Given the description of an element on the screen output the (x, y) to click on. 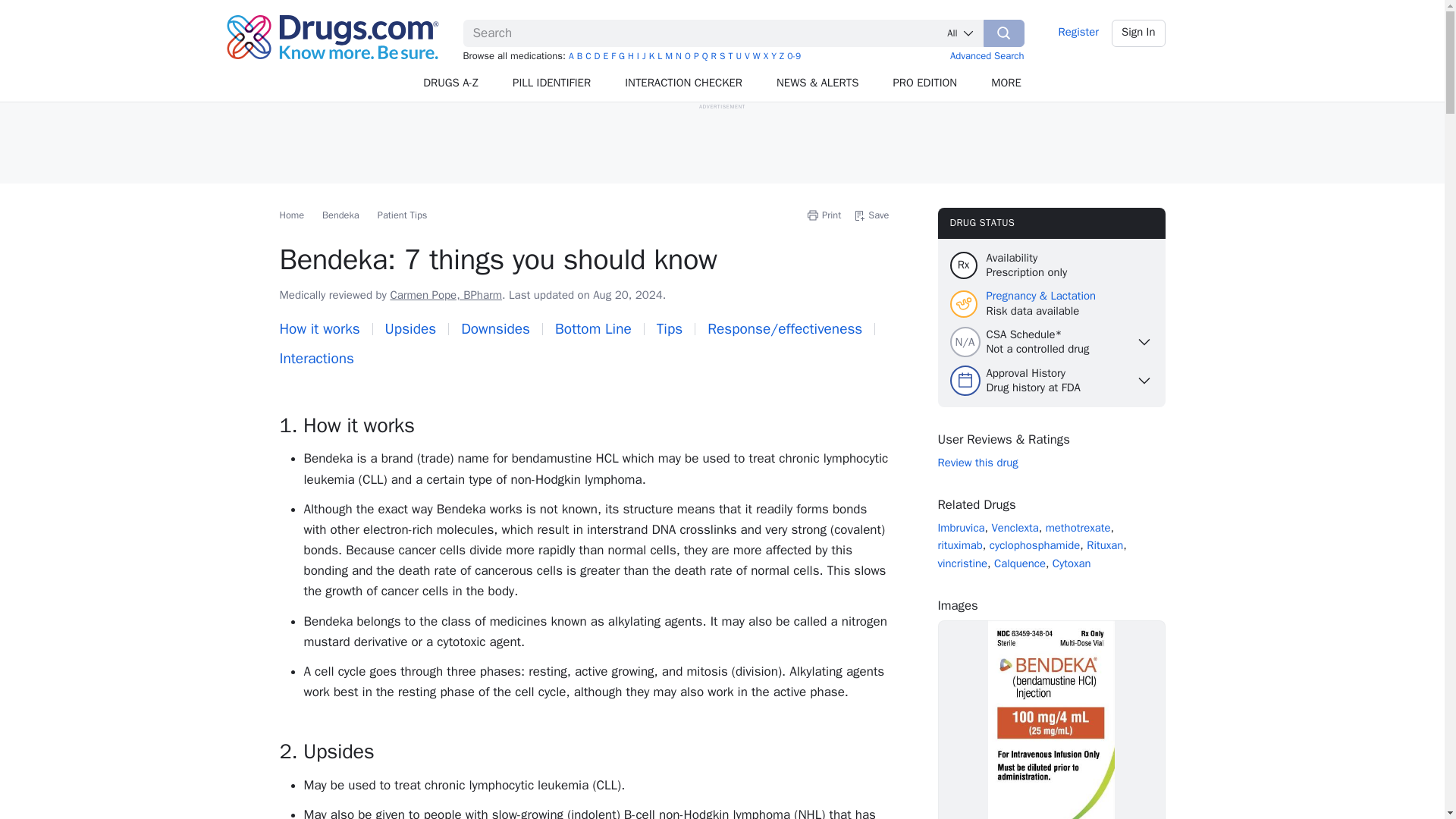
Sign In (1139, 32)
PILL IDENTIFIER (551, 83)
Search (1004, 32)
View larger image (1050, 719)
Register (1078, 32)
0-9 (793, 55)
Advanced Search (987, 55)
DRUGS A-Z (450, 83)
